Given the description of an element on the screen output the (x, y) to click on. 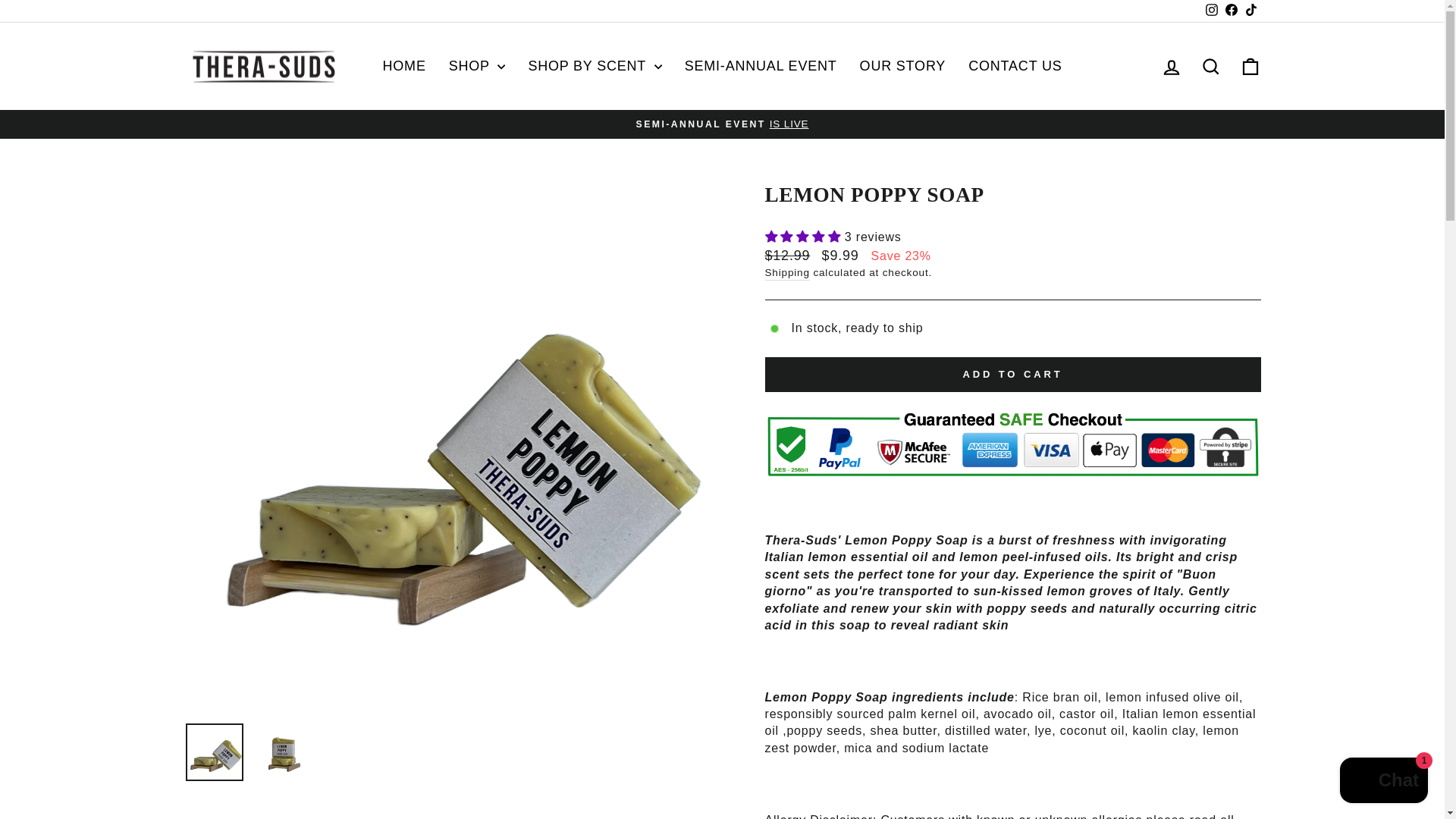
account (1170, 66)
Thera-Suds  on Facebook (1230, 11)
icon-bag-minimal (1249, 66)
Shopify online store chat (1383, 781)
icon-search (1210, 66)
Thera-Suds  on Instagram (1211, 11)
instagram (1211, 9)
Thera-Suds  on TikTok (1250, 11)
